Given the description of an element on the screen output the (x, y) to click on. 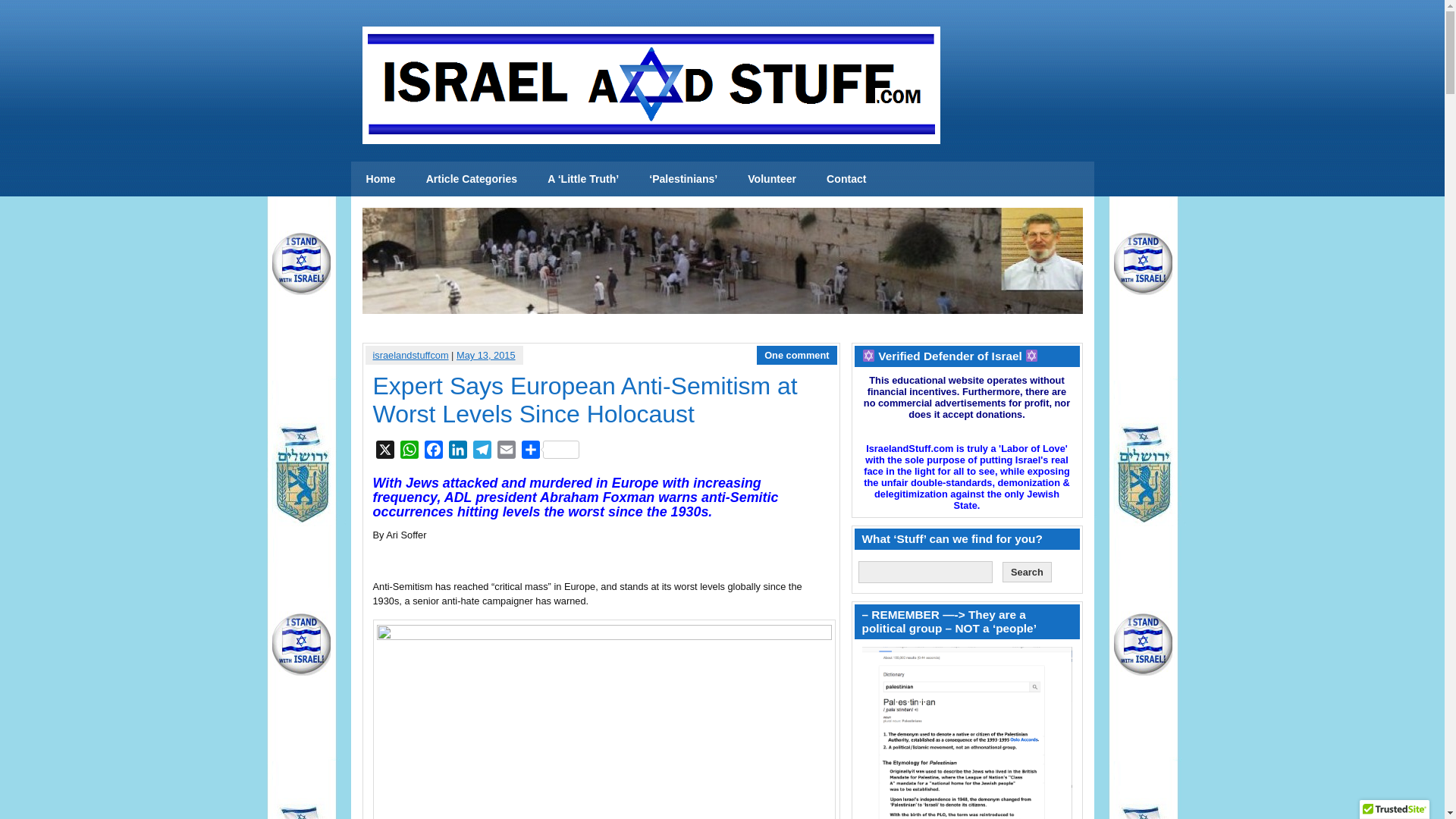
X (384, 452)
X (384, 452)
israelandstuffcom (410, 355)
LinkedIn (457, 452)
Article Categories (471, 178)
One comment (796, 355)
news (380, 178)
Contact (845, 178)
WhatsApp (409, 452)
Home (380, 178)
Email (506, 452)
Facebook (433, 452)
Volunteer (771, 178)
Facebook (433, 452)
May 13, 2015 (486, 355)
